Given the description of an element on the screen output the (x, y) to click on. 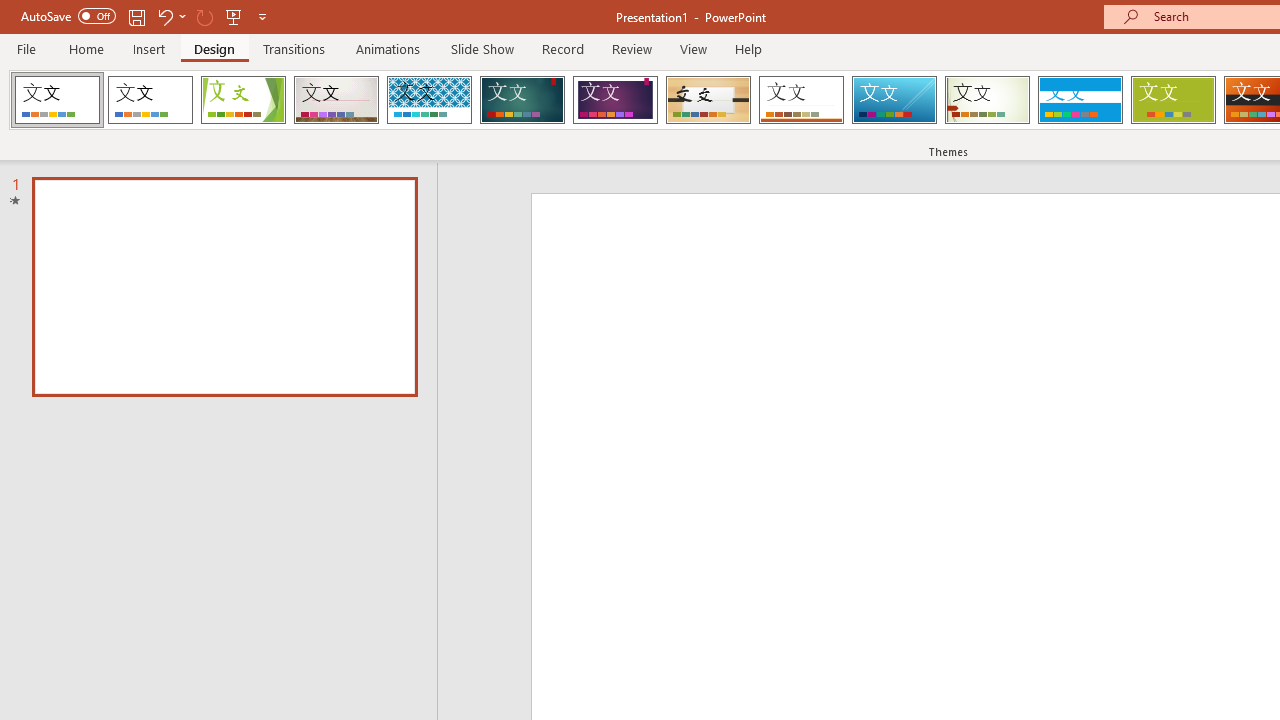
Ion Loading Preview... (522, 100)
Gallery Loading Preview... (336, 100)
Integral Loading Preview... (429, 100)
Retrospect Loading Preview... (801, 100)
Organic Loading Preview... (708, 100)
